Given the description of an element on the screen output the (x, y) to click on. 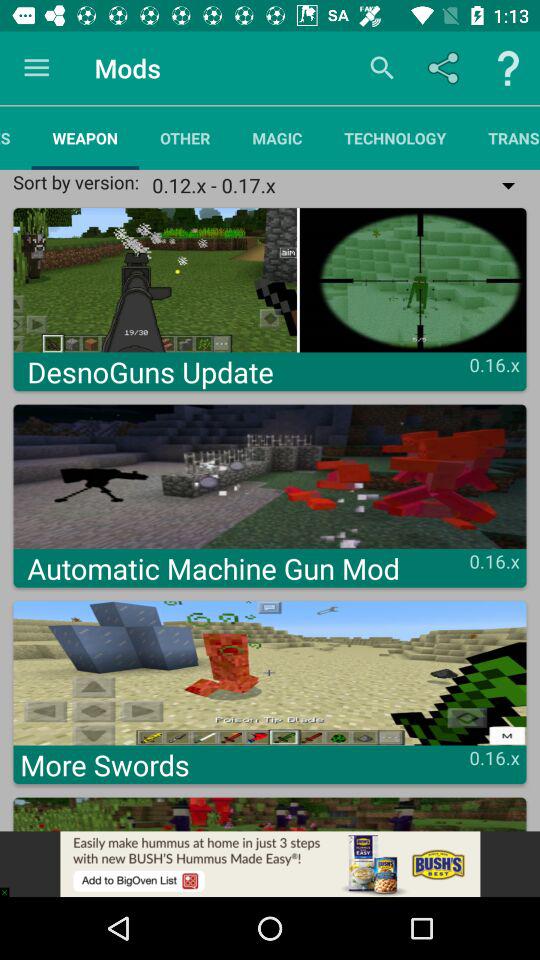
toggles help options for the app (508, 67)
